Given the description of an element on the screen output the (x, y) to click on. 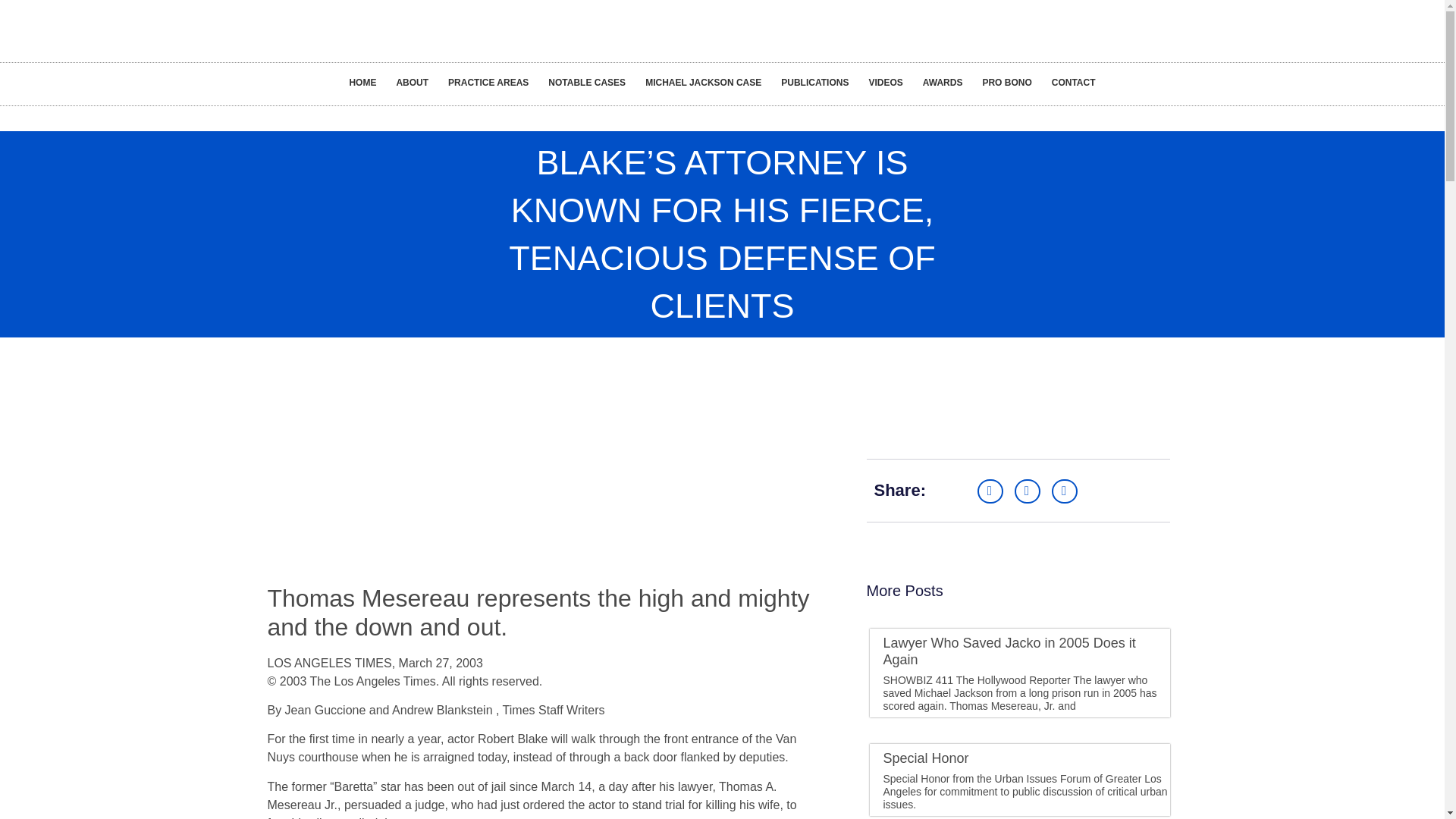
AWARDS (942, 82)
CONTACT (1073, 82)
Lawyer Who Saved Jacko in 2005 Does it Again (1008, 651)
MICHAEL JACKSON CASE (702, 82)
PRACTICE AREAS (488, 82)
ABOUT (411, 82)
PRO BONO (1006, 82)
HOME (362, 82)
VIDEOS (885, 82)
NOTABLE CASES (586, 82)
